Given the description of an element on the screen output the (x, y) to click on. 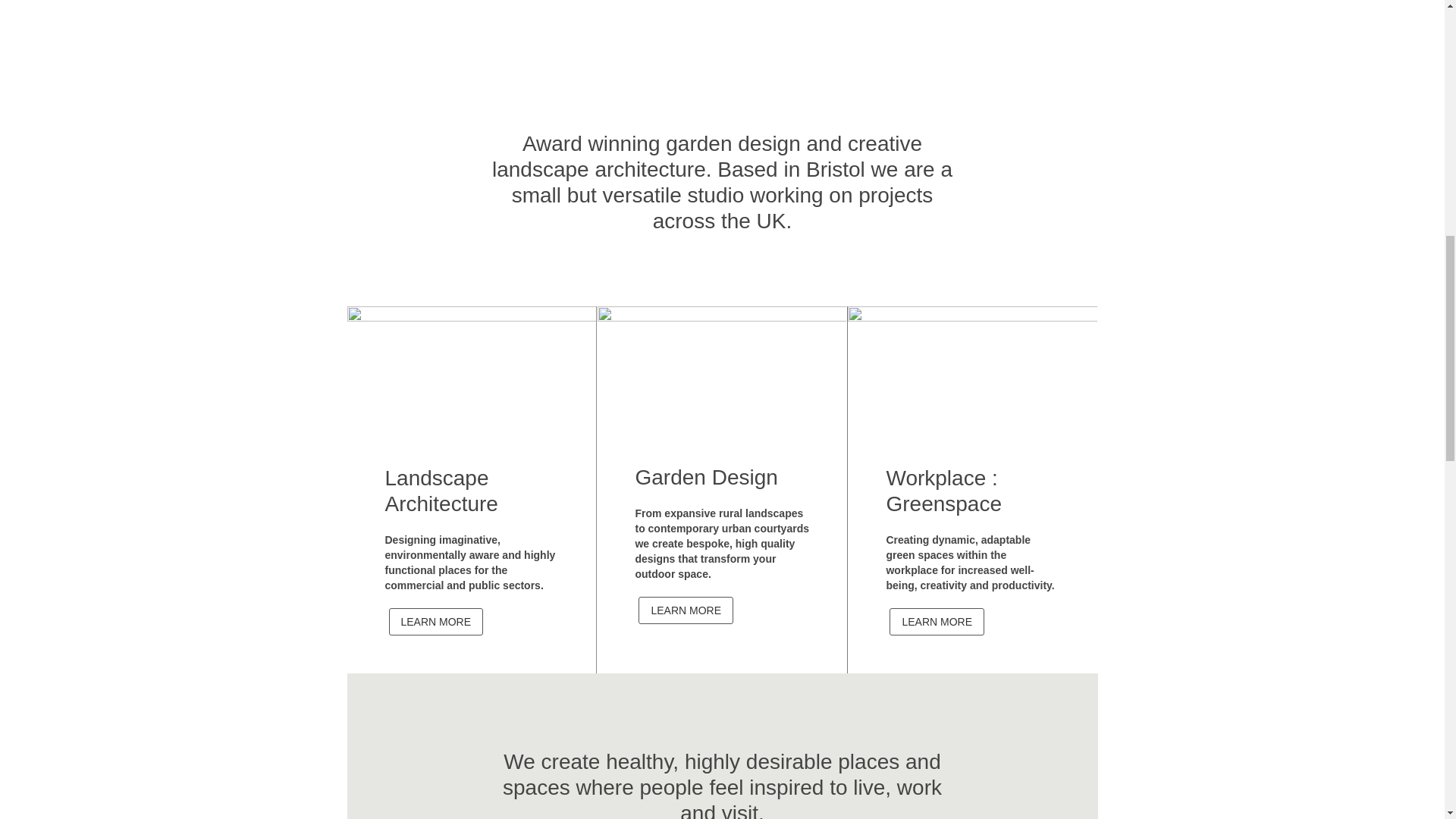
LEARN MORE (435, 621)
LEARN MORE (686, 610)
LEARN MORE (936, 621)
